Given the description of an element on the screen output the (x, y) to click on. 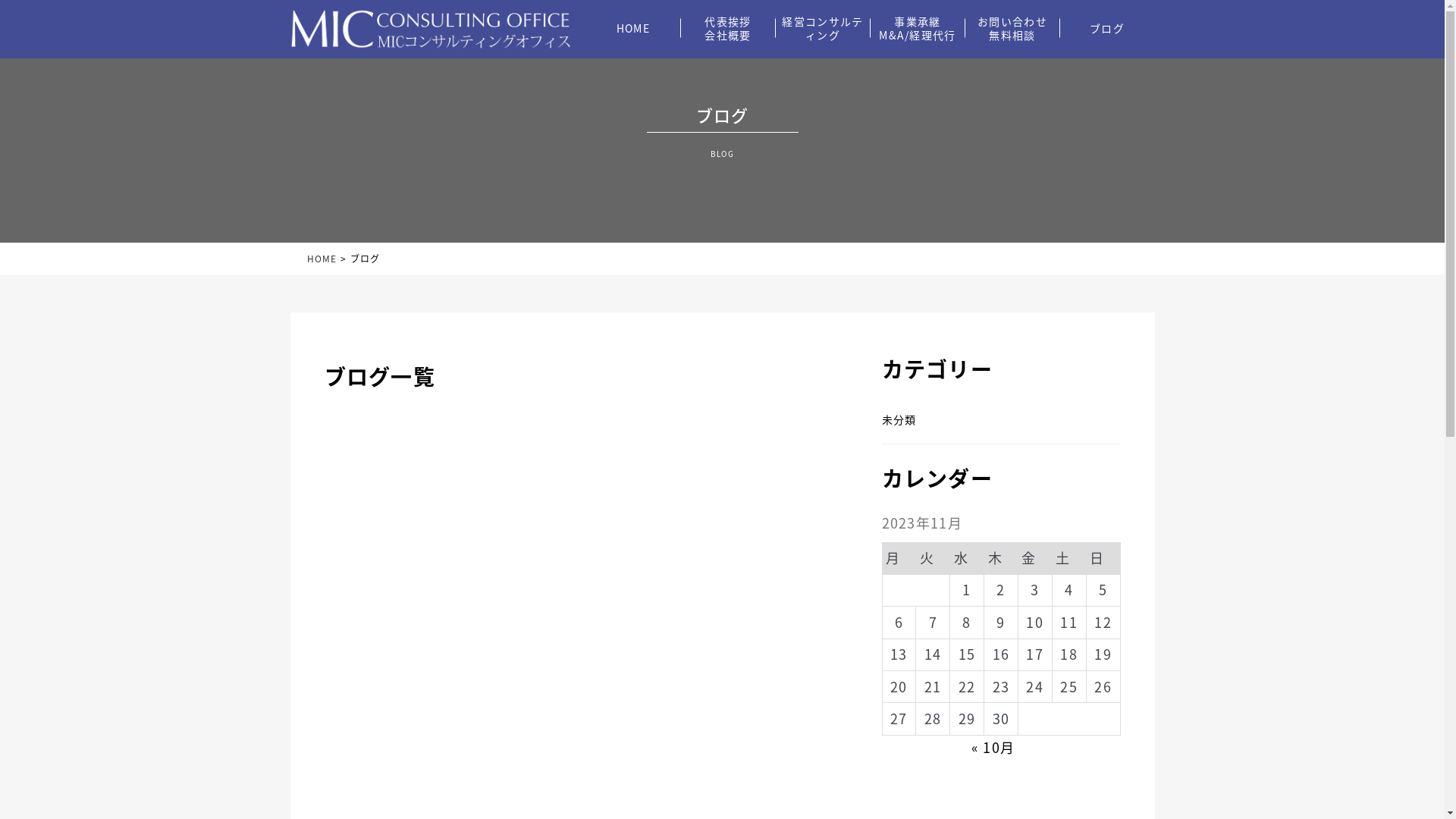
HOME Element type: text (632, 28)
HOME Element type: text (314, 258)
